Given the description of an element on the screen output the (x, y) to click on. 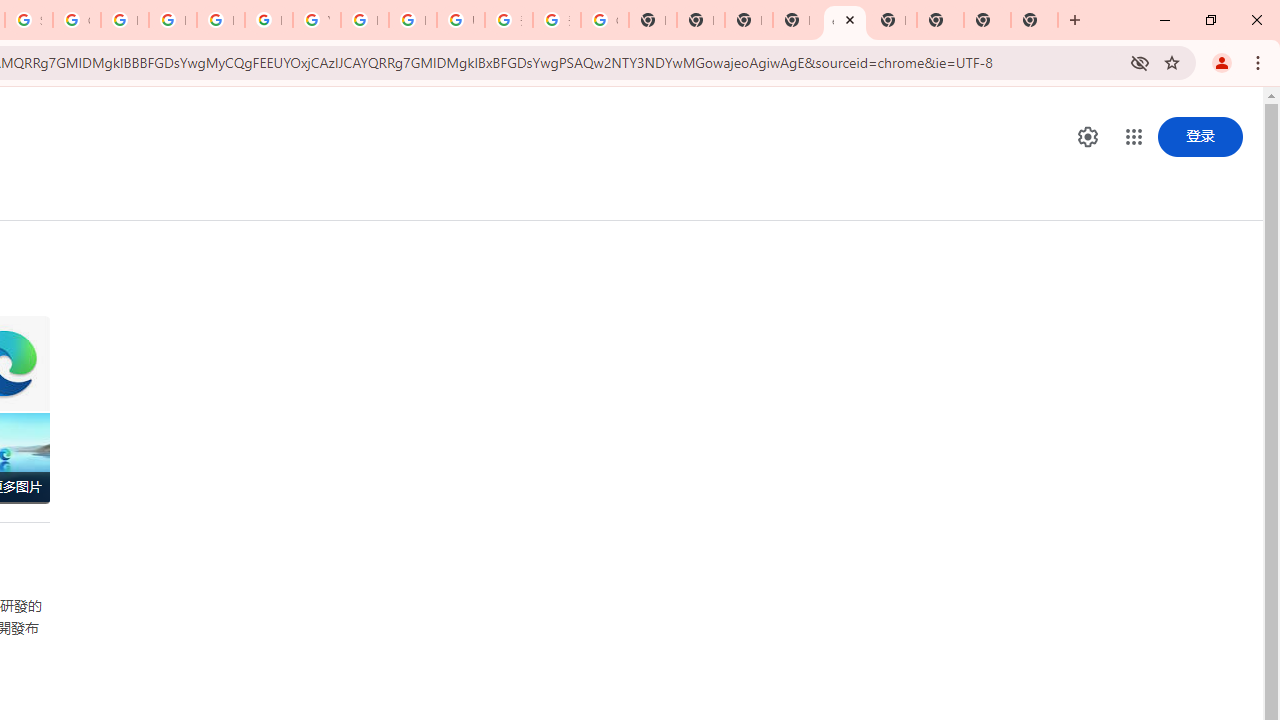
New Tab (796, 20)
